Given the description of an element on the screen output the (x, y) to click on. 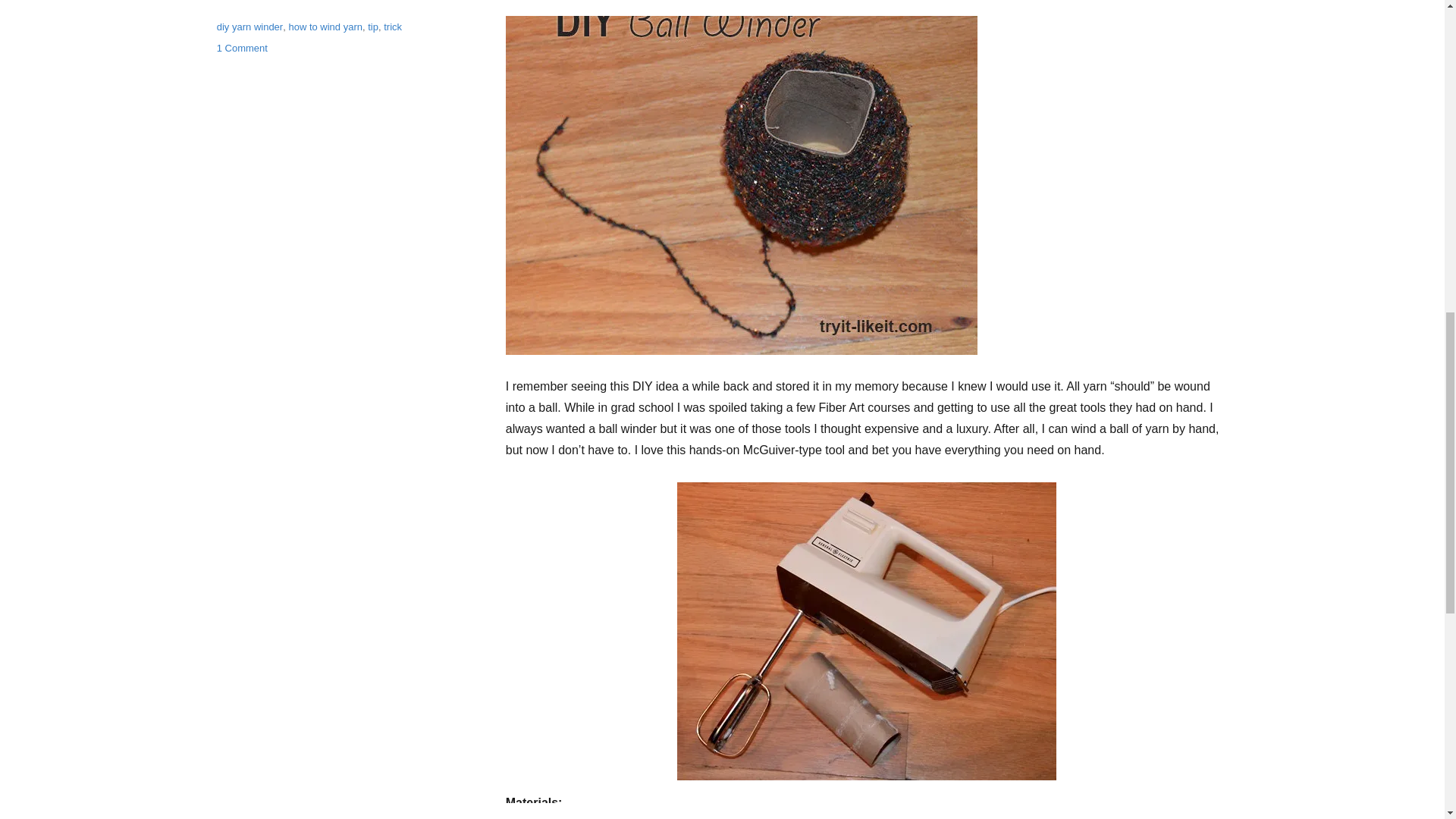
tip (373, 26)
create-it (233, 5)
diy yarn winder (249, 26)
how to wind yarn (325, 26)
trick (392, 26)
1 Comment (241, 48)
